Given the description of an element on the screen output the (x, y) to click on. 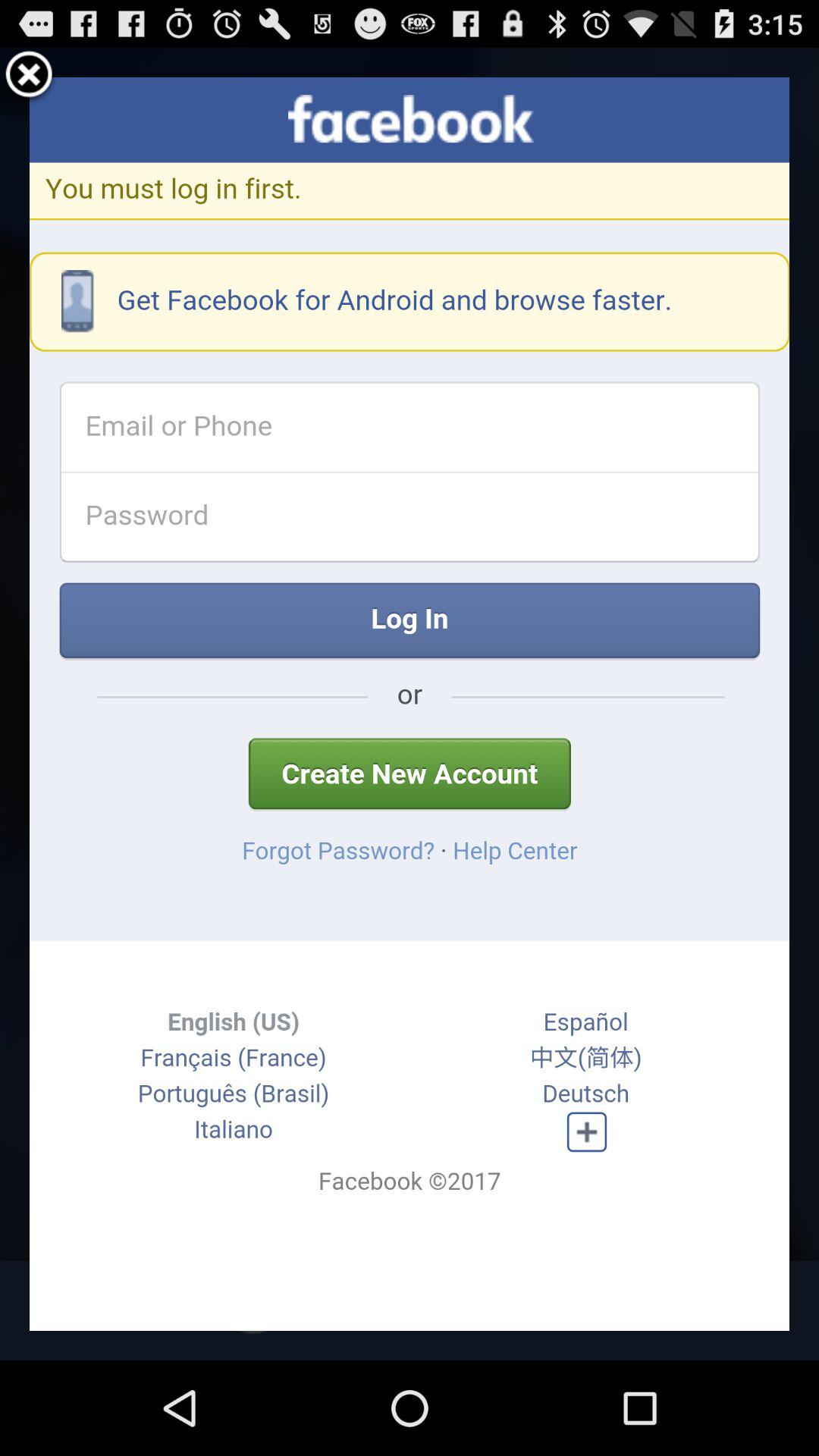
facebook page (409, 703)
